Given the description of an element on the screen output the (x, y) to click on. 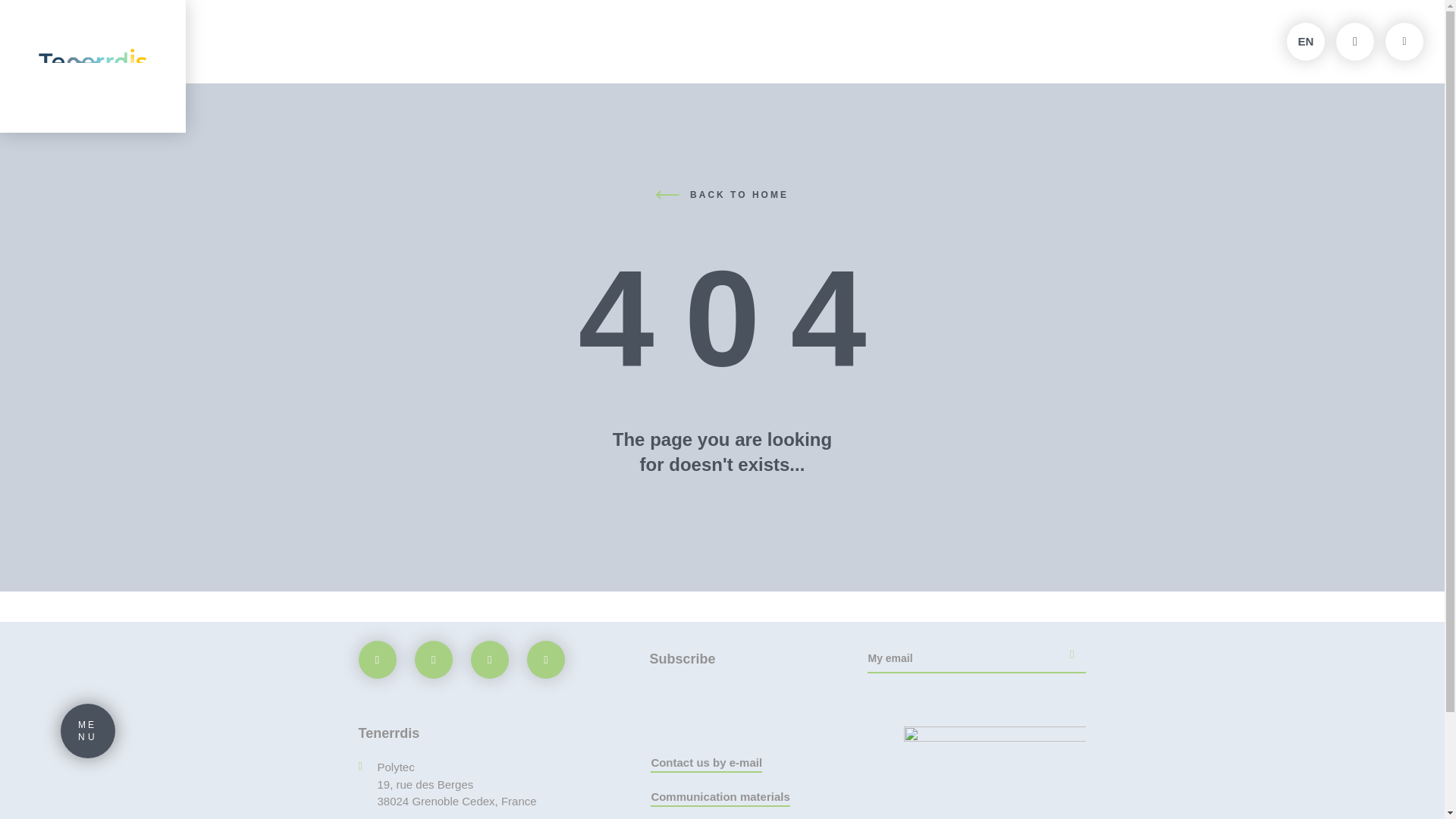
Back to homepage (92, 66)
Open main menu (88, 730)
Linkedin (489, 659)
My email (976, 662)
Youtube (545, 659)
EN (1305, 41)
Contact (1404, 41)
Facebook (377, 659)
Choose language (1305, 41)
Search (1355, 41)
